Given the description of an element on the screen output the (x, y) to click on. 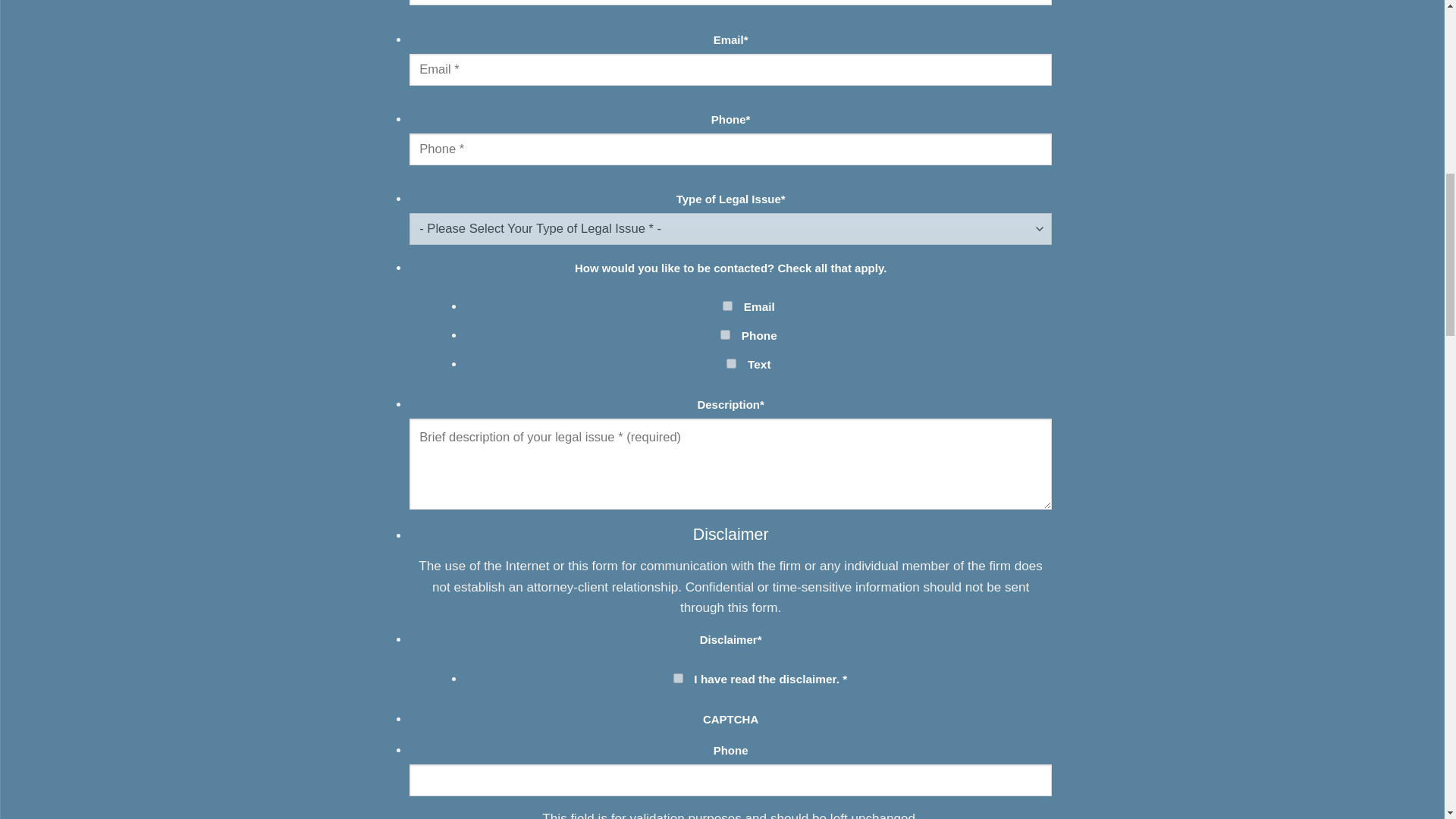
Phone (725, 334)
Text (731, 363)
Email (727, 306)
